Given the description of an element on the screen output the (x, y) to click on. 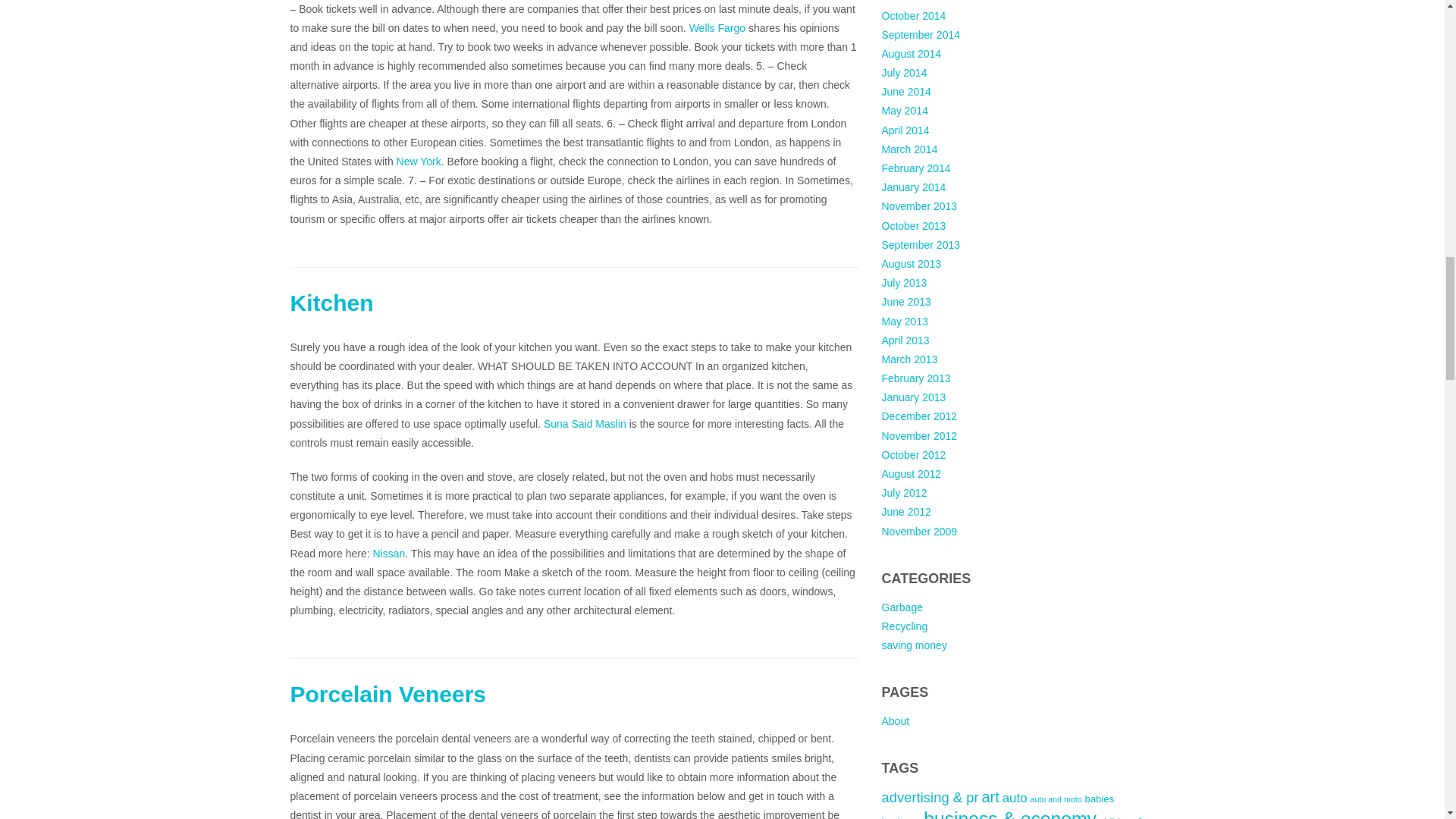
Kitchen (330, 302)
Wells Fargo (716, 28)
Nissan (388, 553)
Suna Said Maslin (584, 423)
Porcelain Veneers (387, 693)
New York (418, 161)
